Given the description of an element on the screen output the (x, y) to click on. 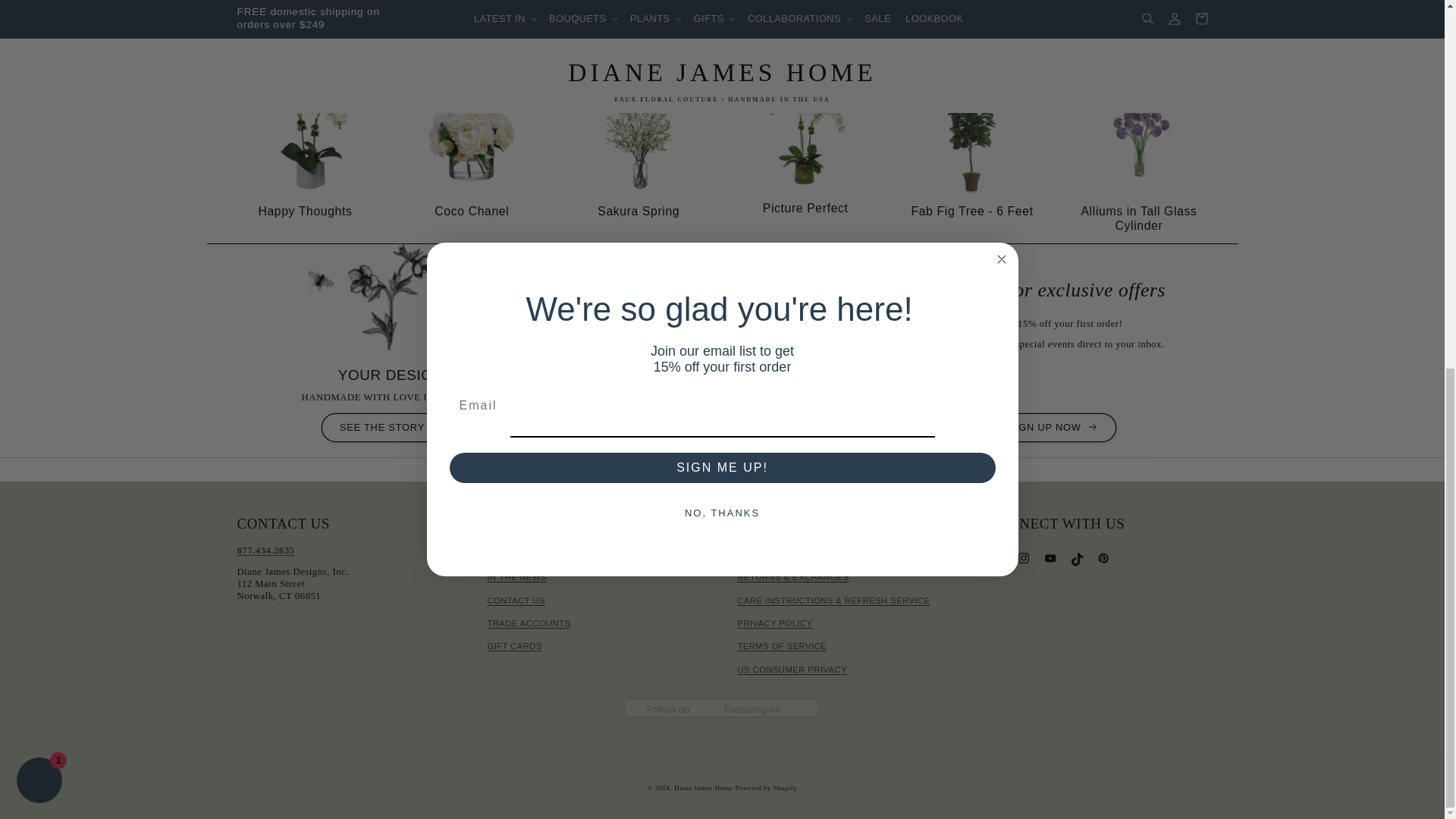
tel:8774342635 (264, 550)
Shopify online store chat (38, 115)
